Given the description of an element on the screen output the (x, y) to click on. 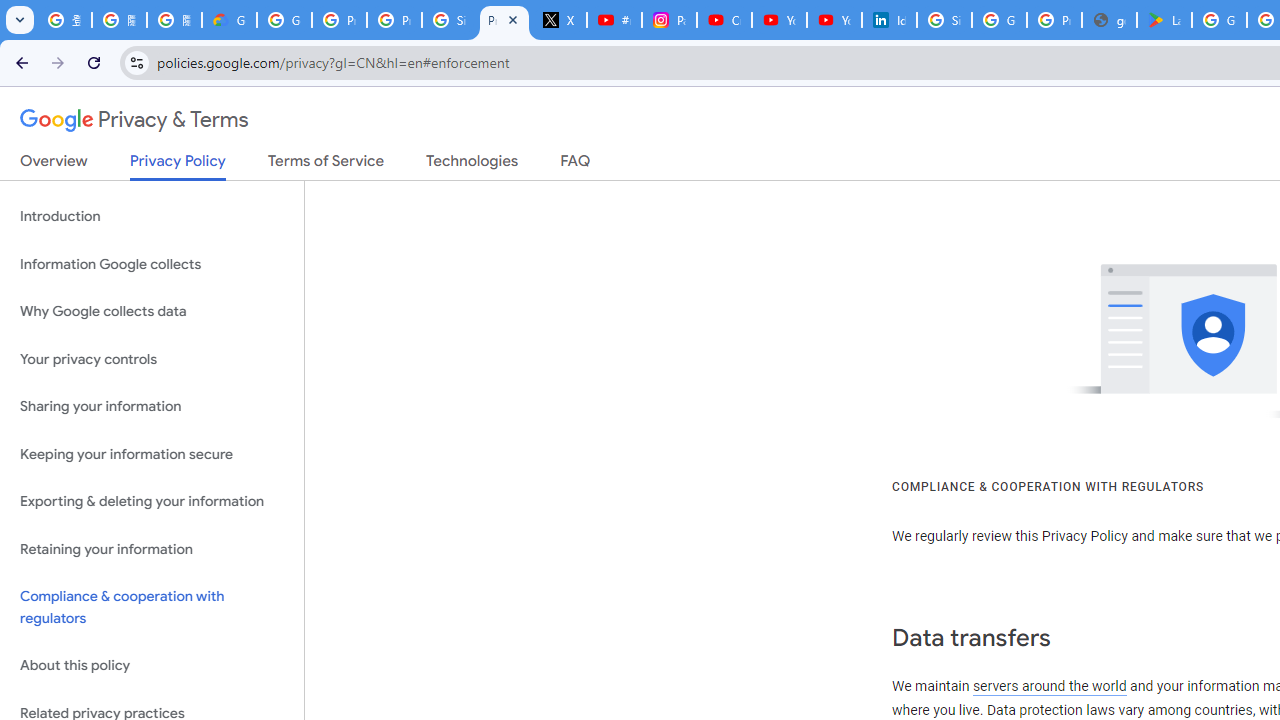
Privacy Help Center - Policies Help (394, 20)
Sign in - Google Accounts (449, 20)
